Given the description of an element on the screen output the (x, y) to click on. 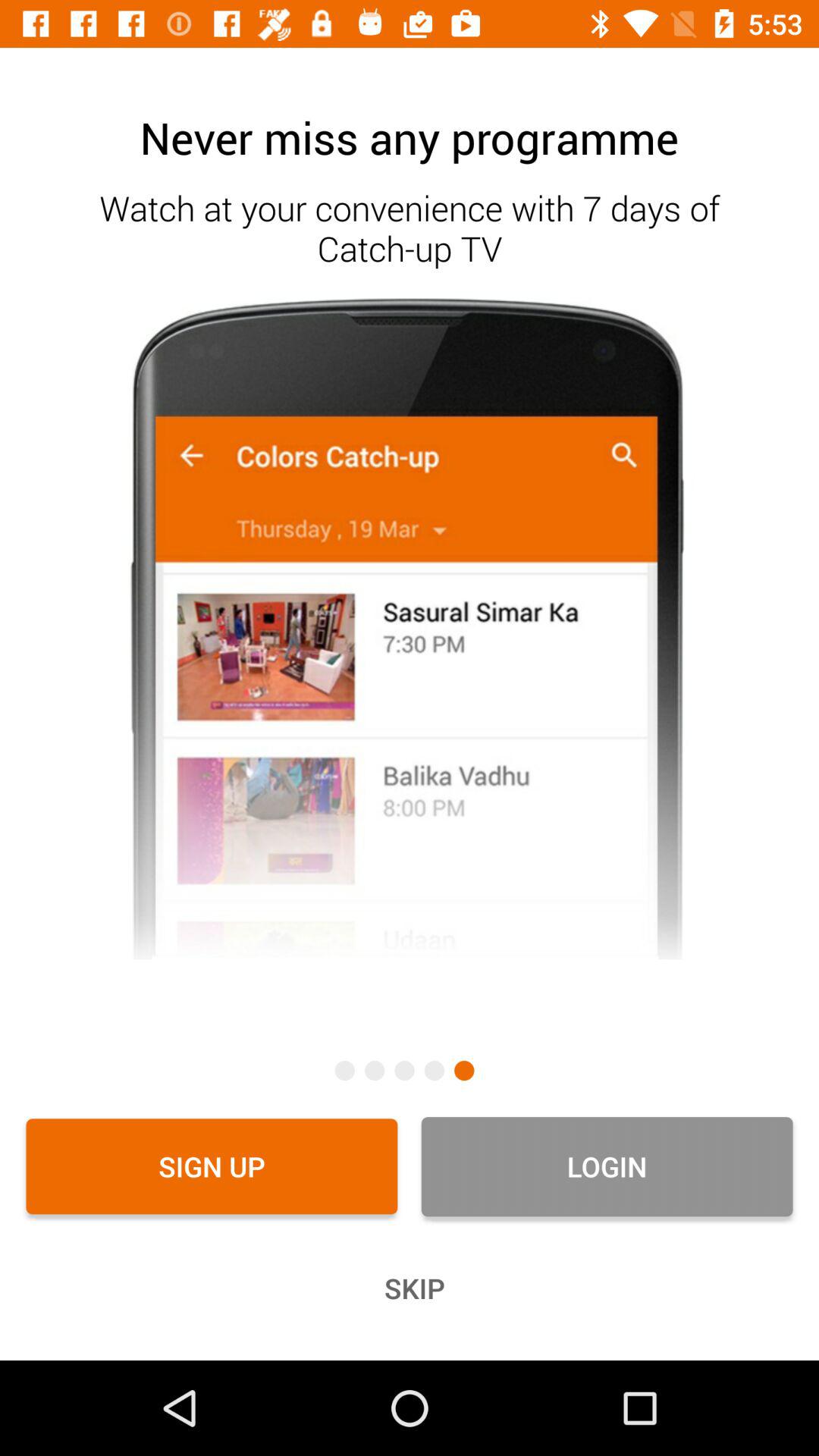
flip to the sign up icon (211, 1166)
